Given the description of an element on the screen output the (x, y) to click on. 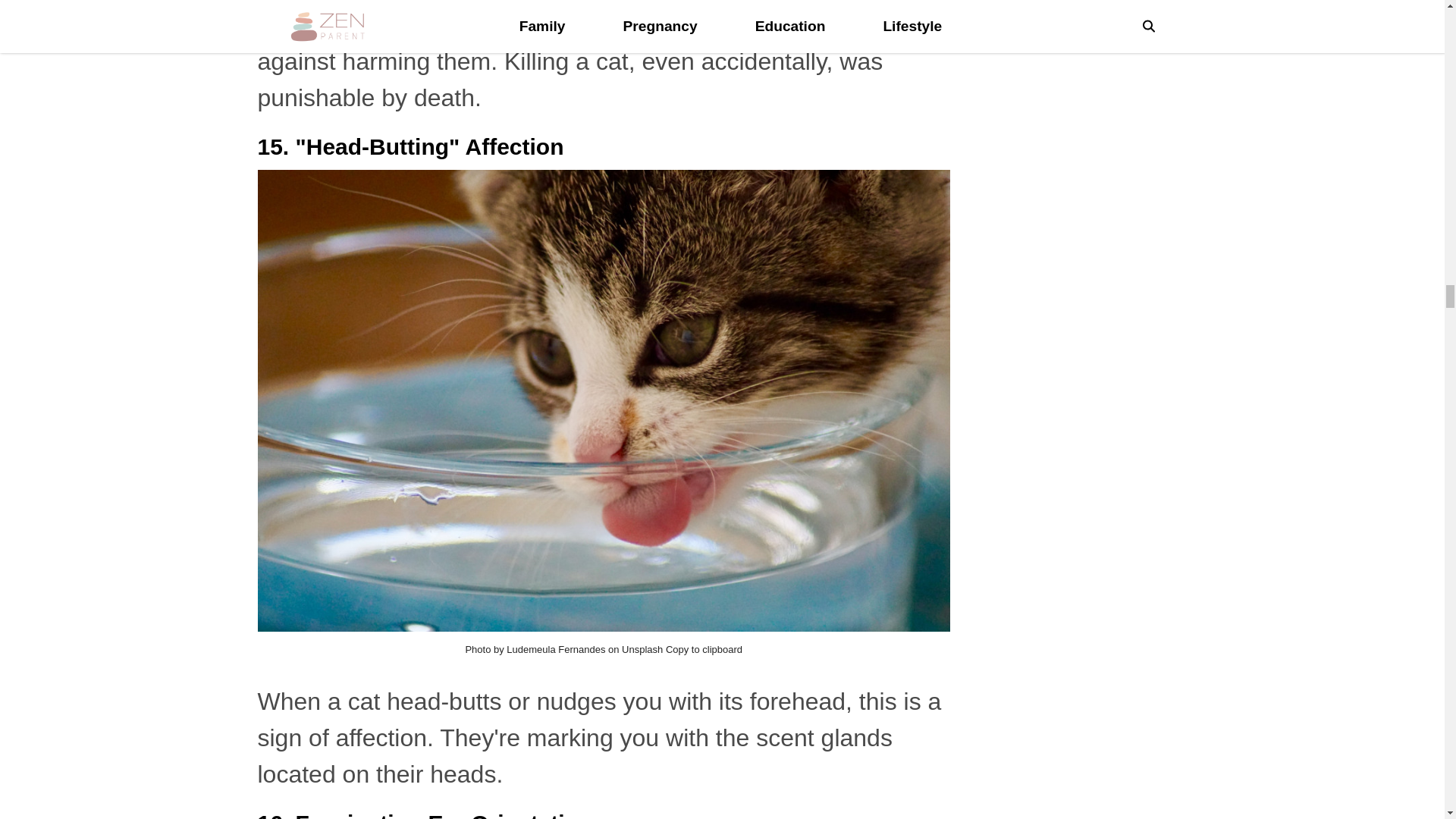
Photo by Ludemeula Fernandes on Unsplash Copy to clipboard (603, 649)
